Given the description of an element on the screen output the (x, y) to click on. 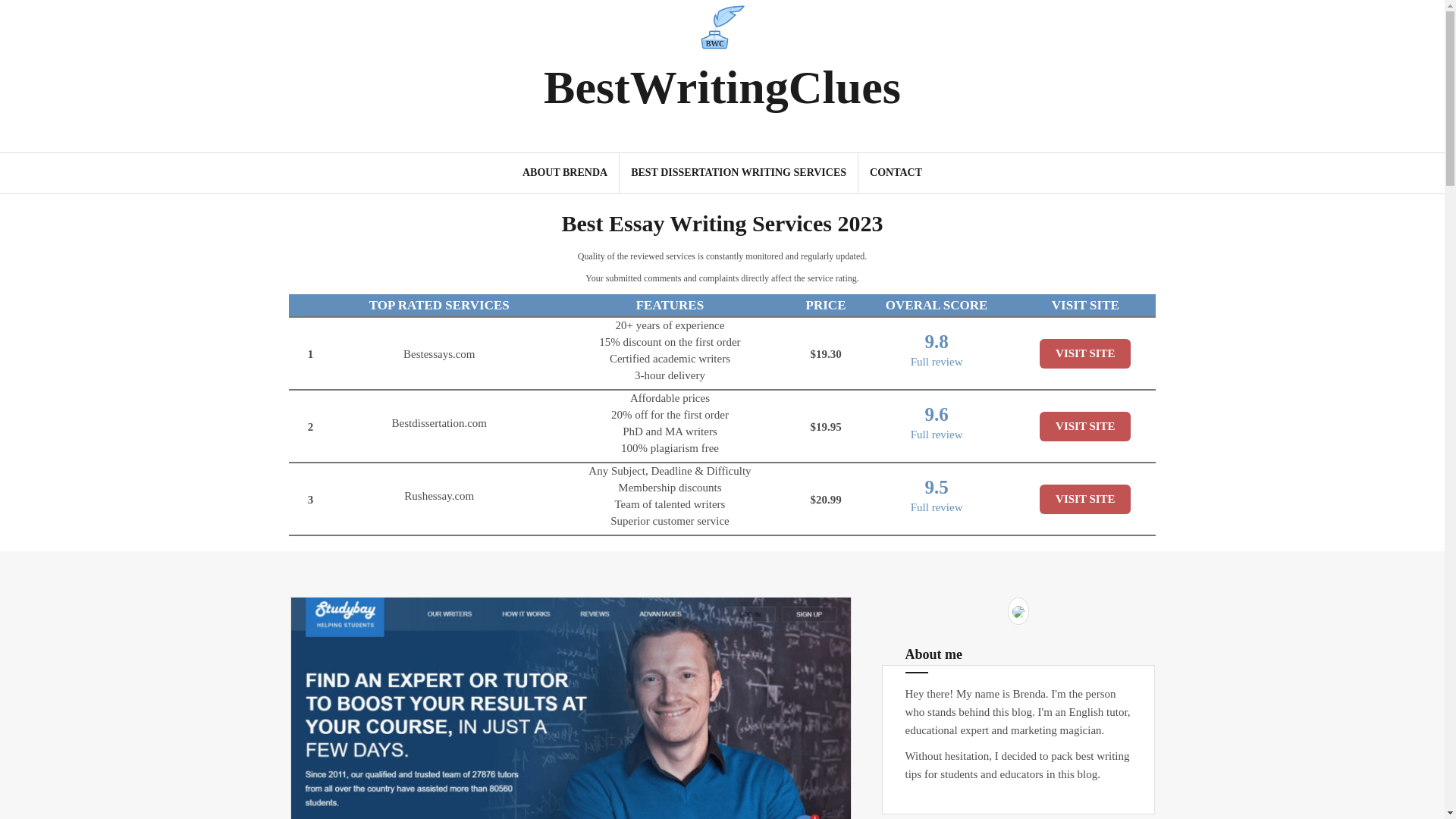
BEST DISSERTATION WRITING SERVICES (737, 172)
VISIT SITE (1085, 426)
BestWritingClues (722, 87)
CONTACT (895, 172)
Full review (936, 434)
VISIT SITE (1085, 353)
Full review (936, 361)
Full review (936, 507)
ABOUT BRENDA (564, 172)
VISIT SITE (1085, 499)
